Given the description of an element on the screen output the (x, y) to click on. 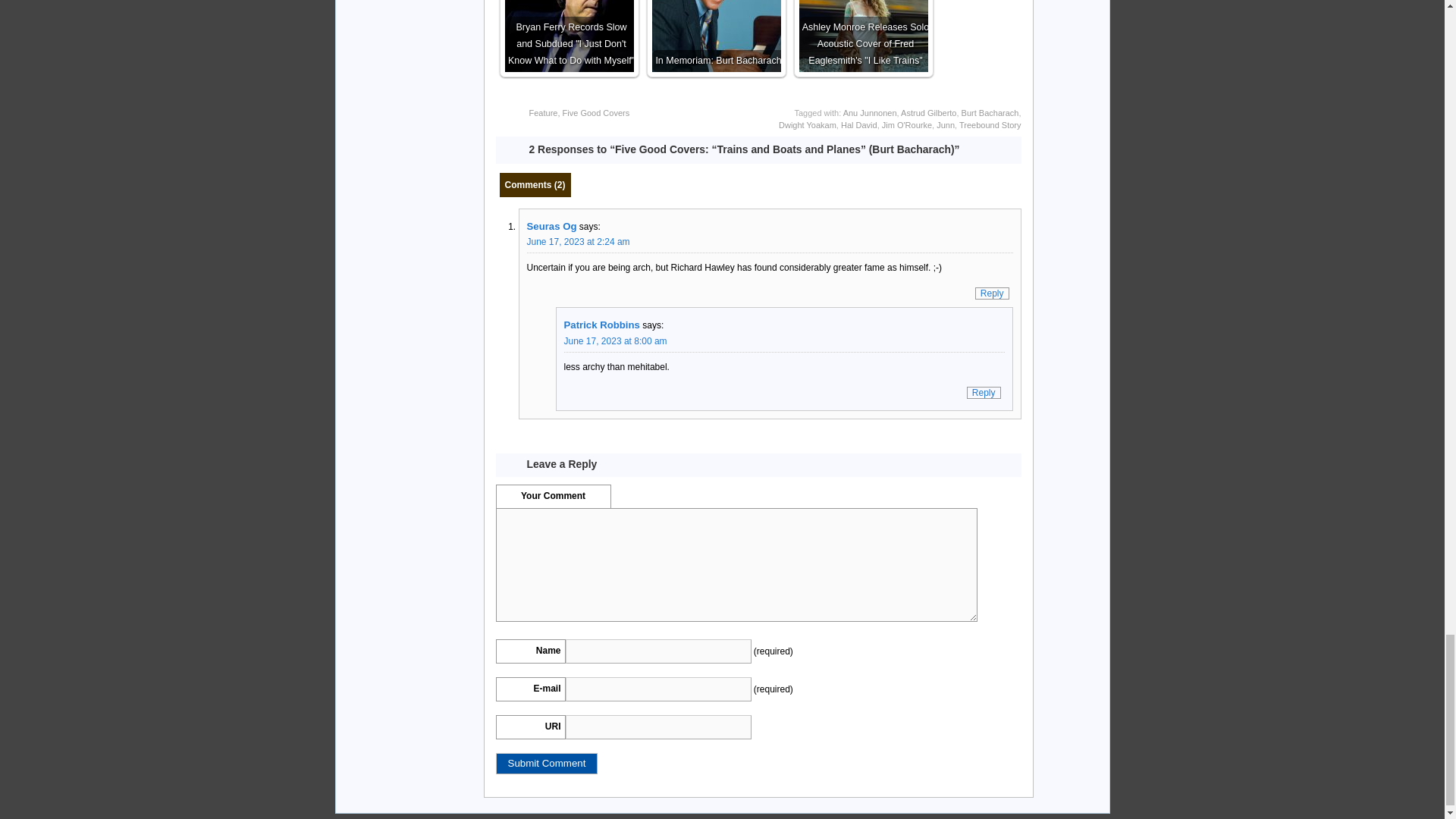
June 17, 2023 at 2:24 am (576, 241)
June 17, 2023 at 8:00 am (615, 340)
Junn (945, 124)
Submit Comment (547, 762)
Dwight Yoakam (806, 124)
Jim O'Rourke (906, 124)
Hal David (859, 124)
Treebound Story (990, 124)
Feature (543, 112)
Reply (992, 293)
Submit Comment (547, 762)
Astrud Gilberto (928, 112)
Reply (983, 392)
